Given the description of an element on the screen output the (x, y) to click on. 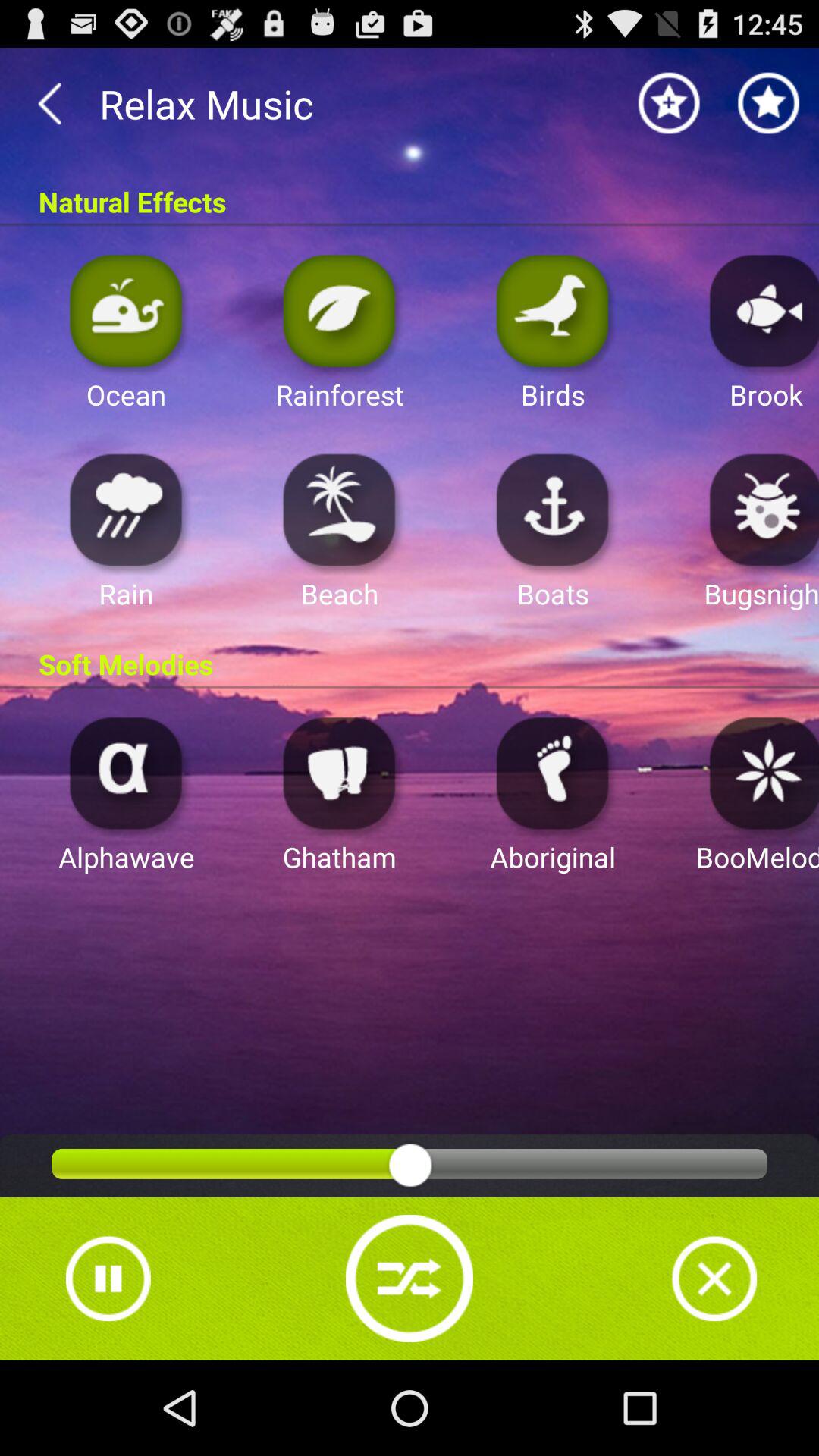
shuffle music (409, 1278)
